Given the description of an element on the screen output the (x, y) to click on. 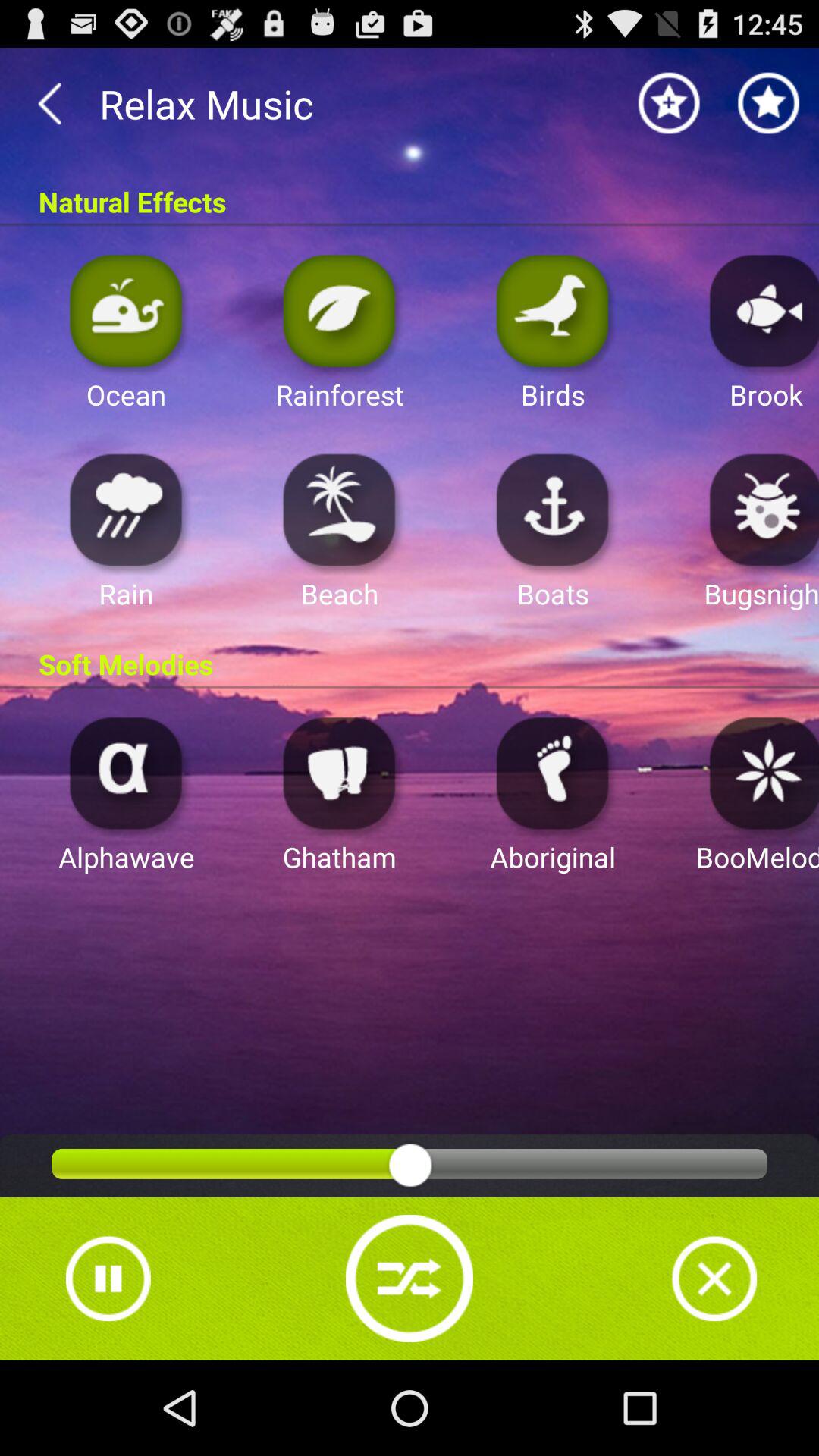
shuffle music (409, 1278)
